Given the description of an element on the screen output the (x, y) to click on. 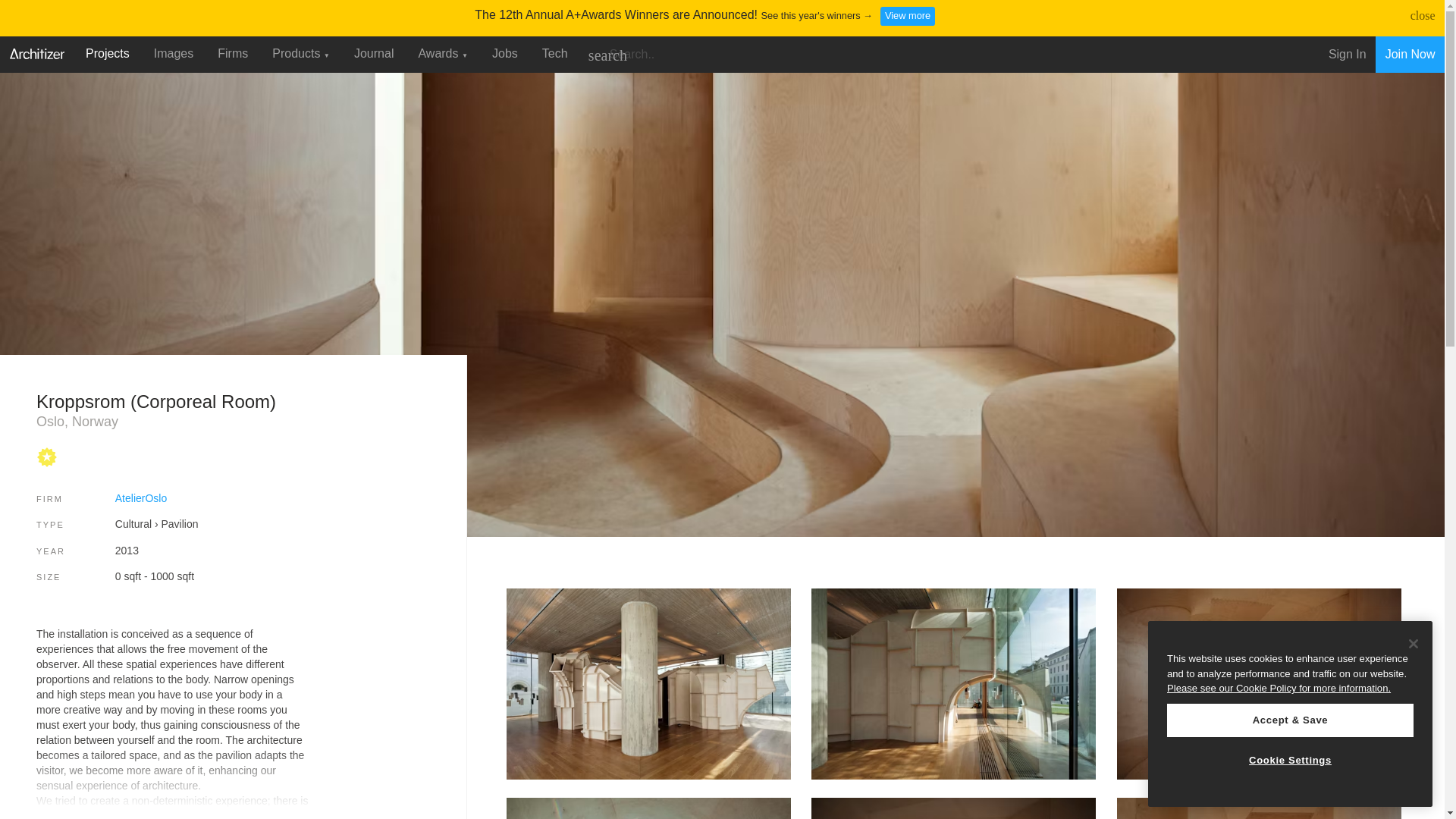
Jobs (504, 53)
Firms (232, 53)
search (606, 55)
Tech (554, 53)
Sign In (1347, 54)
close (1422, 15)
Images (173, 53)
Journal (374, 53)
Architizer (36, 51)
Projects (107, 53)
